Given the description of an element on the screen output the (x, y) to click on. 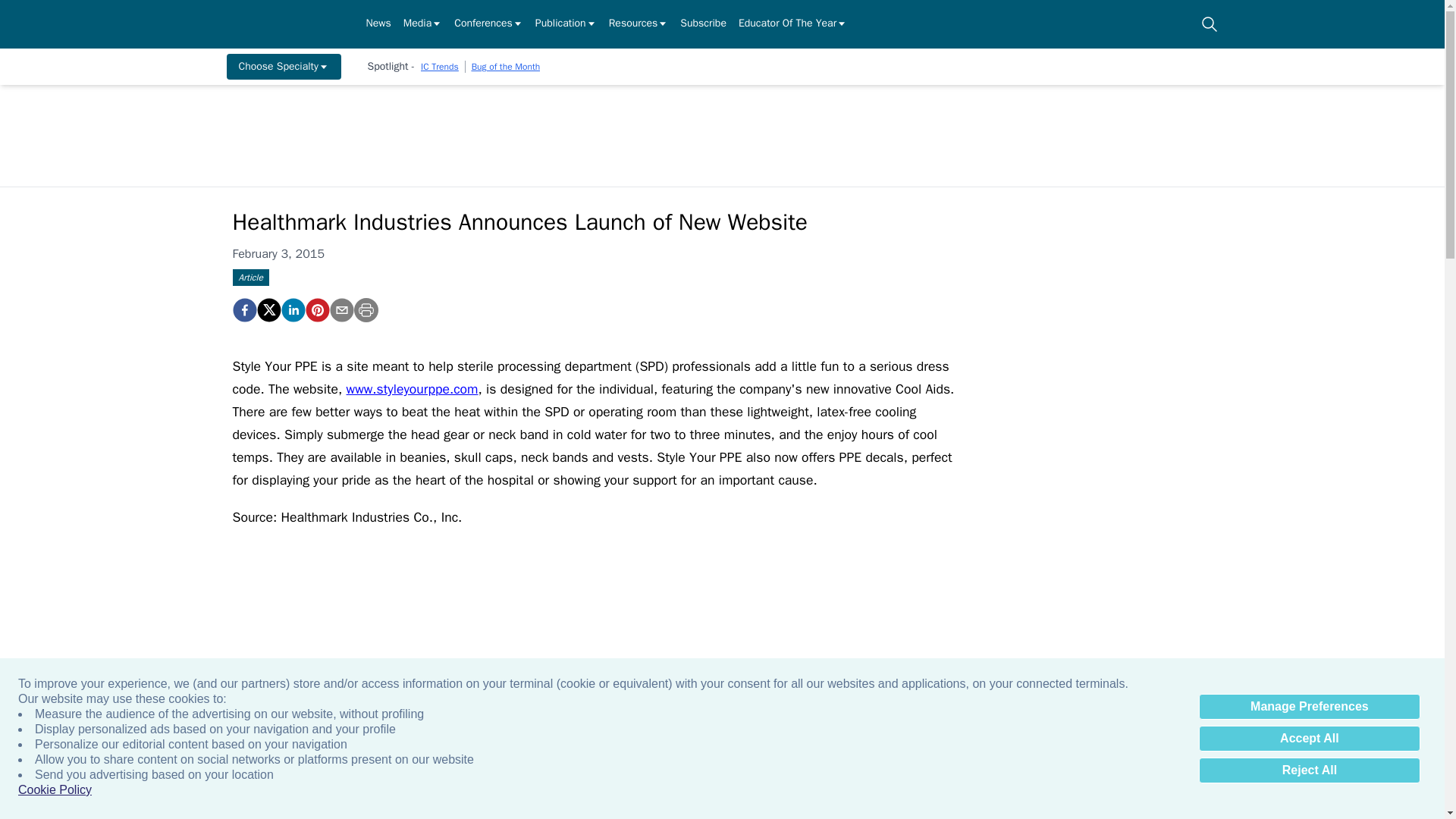
Publication (565, 23)
Healthmark Industries Announces Launch of New Website (243, 310)
Manage Preferences (1309, 706)
Subscribe (702, 23)
News (377, 23)
Reject All (1309, 769)
Educator Of The Year (792, 23)
Conferences (488, 23)
Choose Specialty (282, 66)
Healthmark Industries Announces Launch of New Website (316, 310)
Infection Control Today Topic of the Month: Mental Health (343, 760)
